Given the description of an element on the screen output the (x, y) to click on. 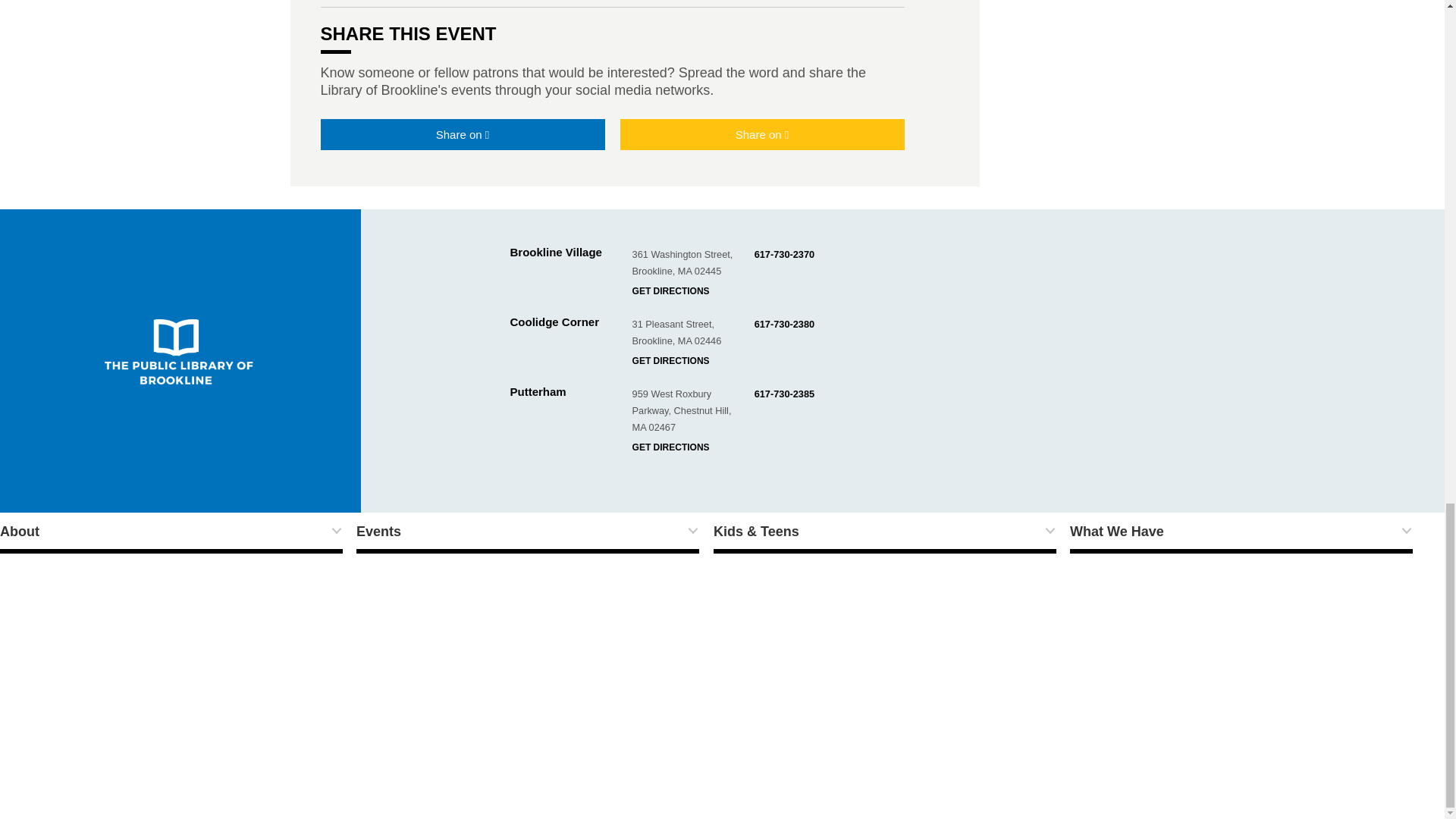
About (171, 532)
Share on (462, 133)
Share on (762, 133)
